Given the description of an element on the screen output the (x, y) to click on. 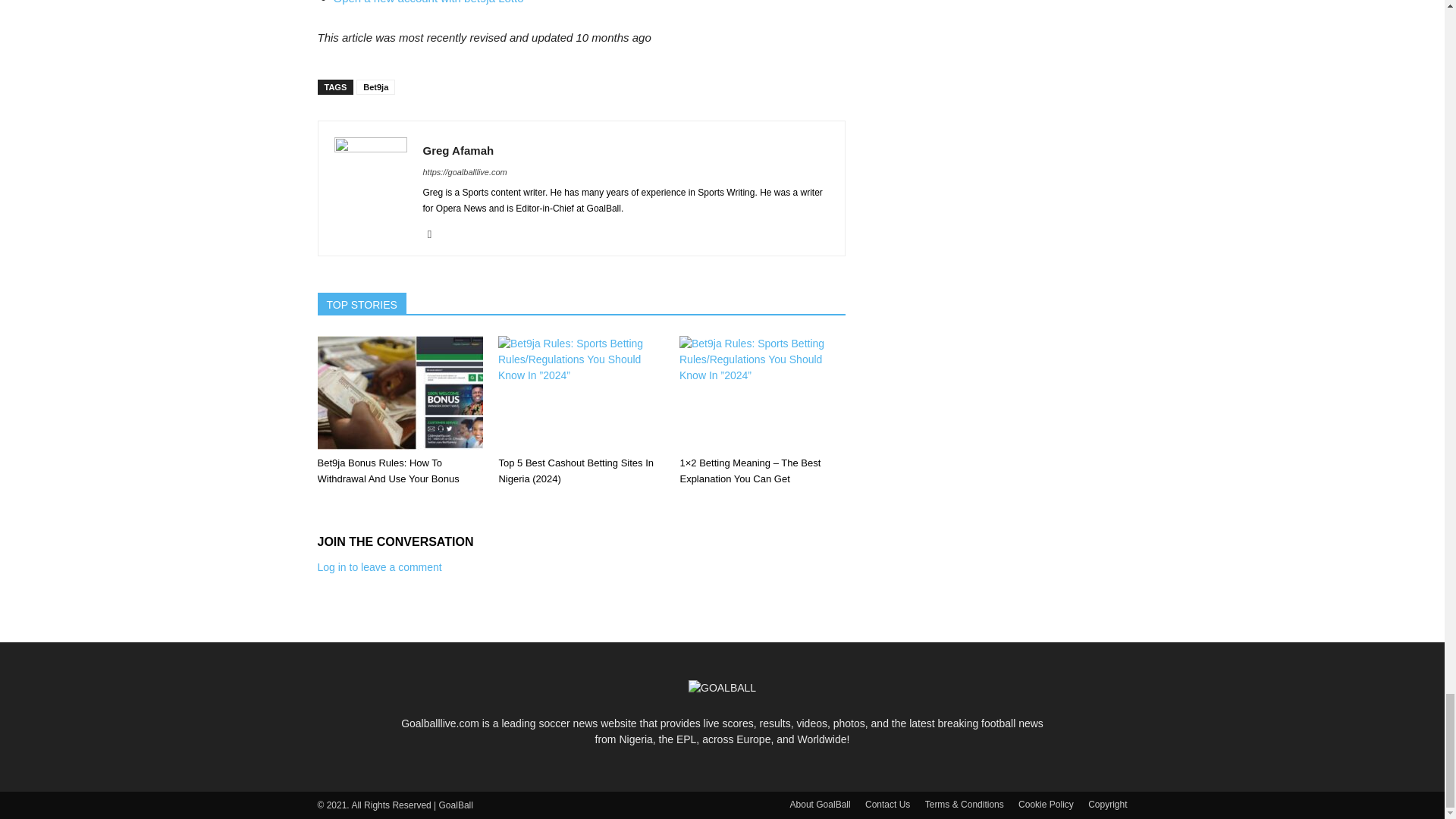
Twitter (435, 234)
Bet9ja Bonus Rules: How To Withdrawal And Use Your Bonus (399, 392)
Bet9ja Bonus Rules: How To Withdrawal And Use Your Bonus (387, 470)
